Given the description of an element on the screen output the (x, y) to click on. 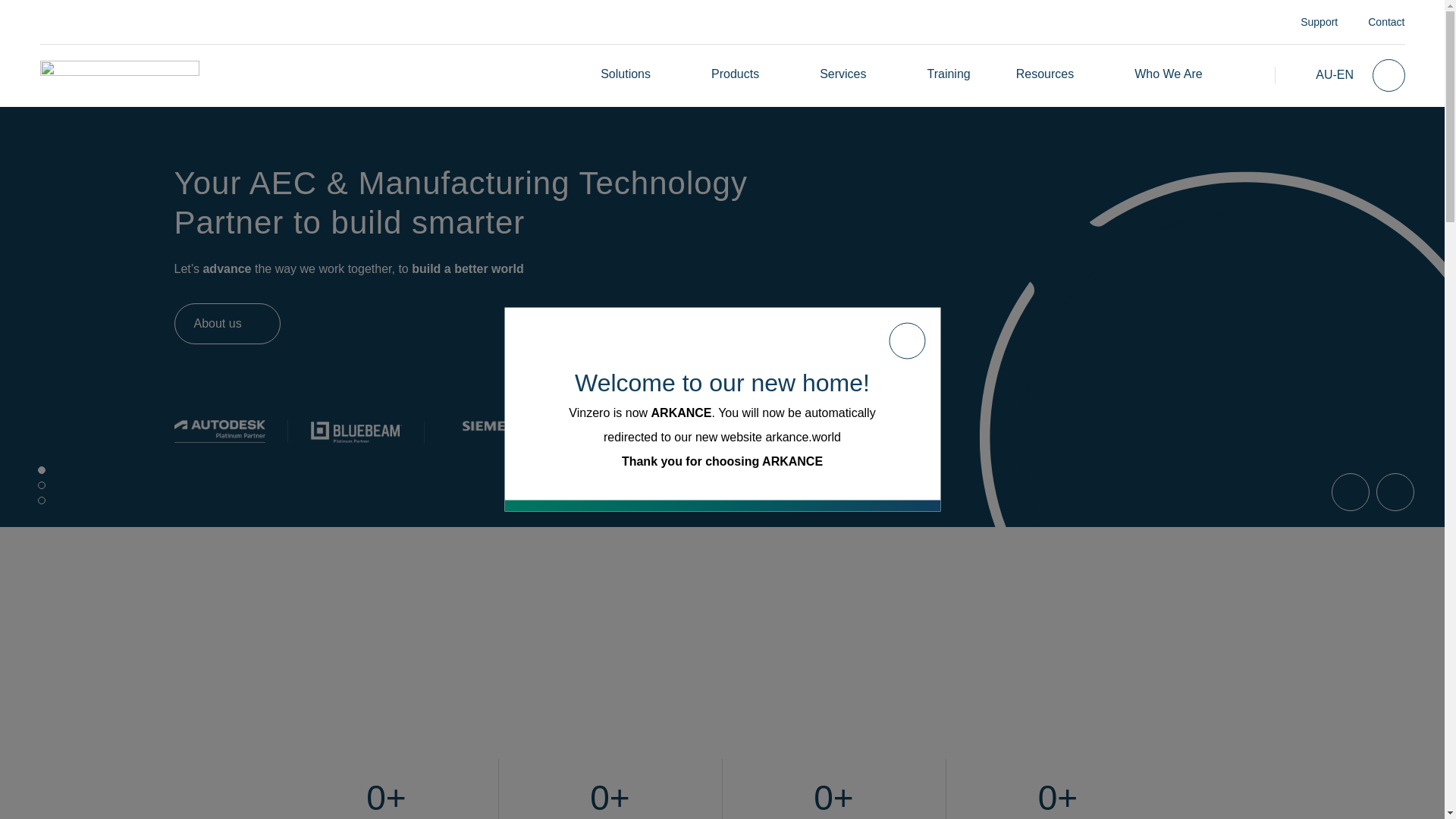
Resources (1045, 72)
Products (734, 72)
Contact (1386, 21)
Who We Are (1168, 72)
Support (1319, 21)
Training (947, 72)
Solutions (624, 72)
Services (842, 72)
